Given the description of an element on the screen output the (x, y) to click on. 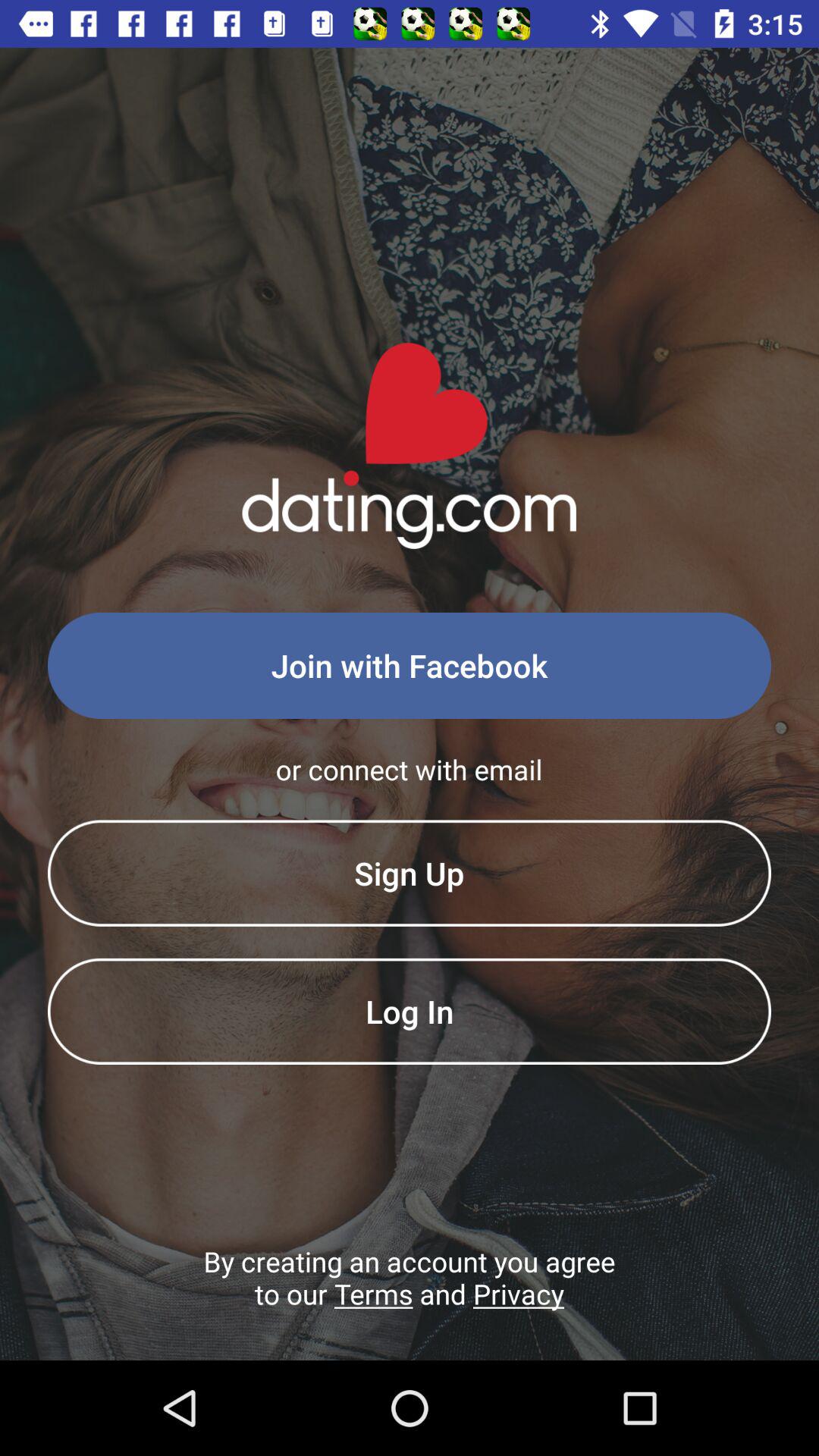
scroll to sign up icon (409, 873)
